Given the description of an element on the screen output the (x, y) to click on. 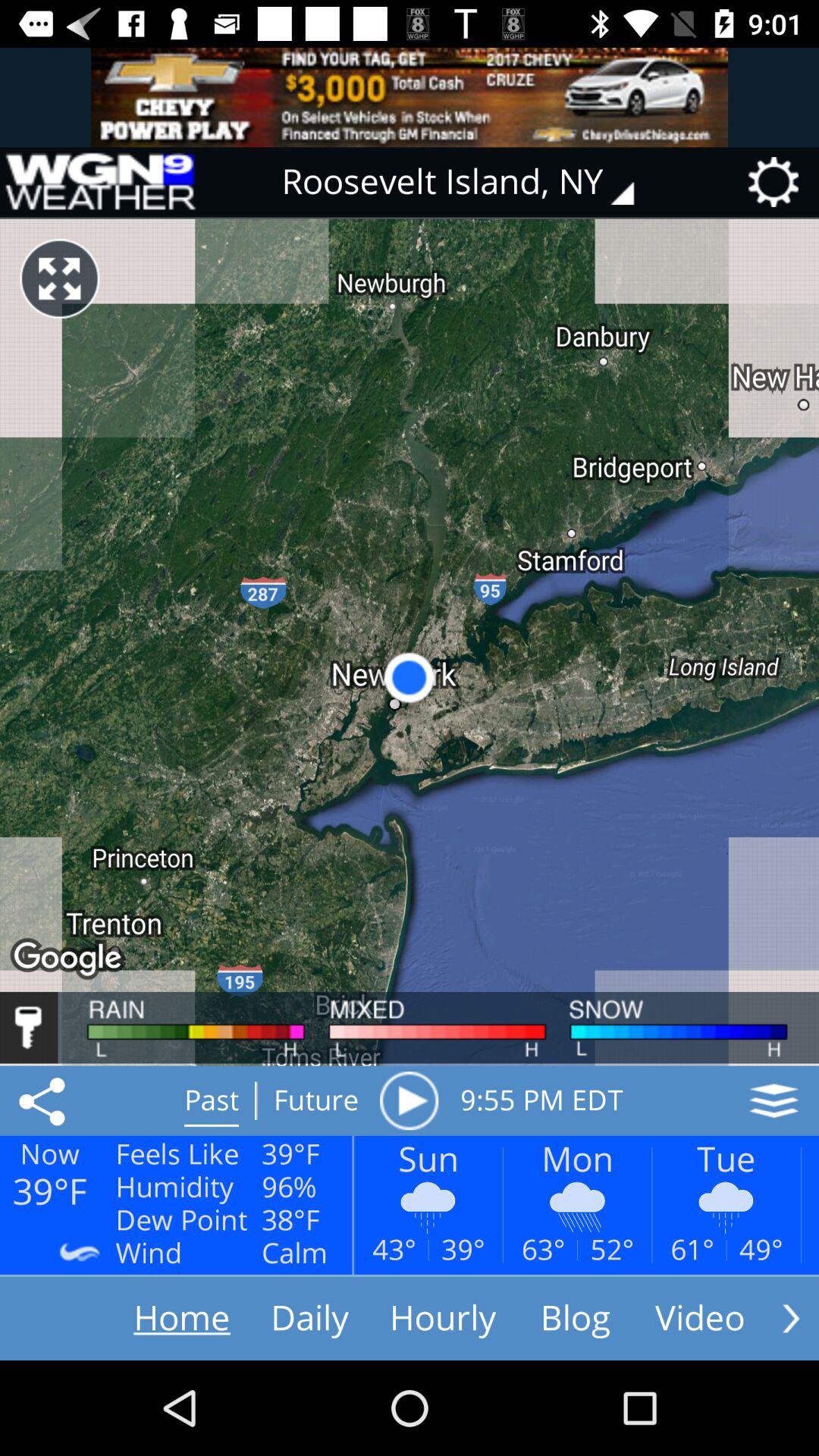
select advertisement (409, 97)
